Given the description of an element on the screen output the (x, y) to click on. 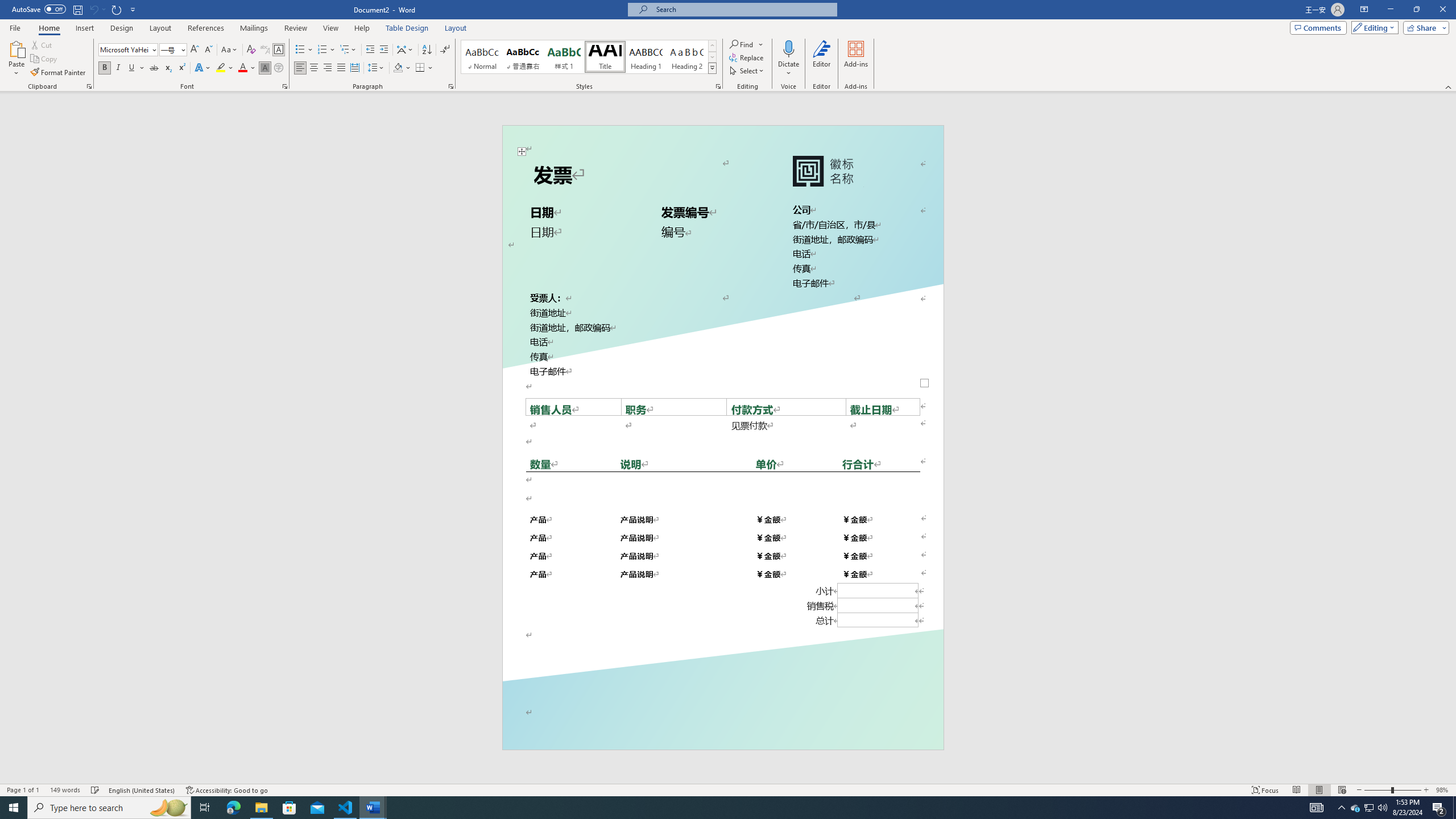
Focus  (1265, 790)
Borders (424, 67)
Home (48, 28)
References (205, 28)
System (6, 6)
Row Down (711, 56)
System (6, 6)
Heading 2 (686, 56)
Italic (118, 67)
Underline (131, 67)
Copy (45, 58)
Save (77, 9)
Font Size (169, 49)
